Given the description of an element on the screen output the (x, y) to click on. 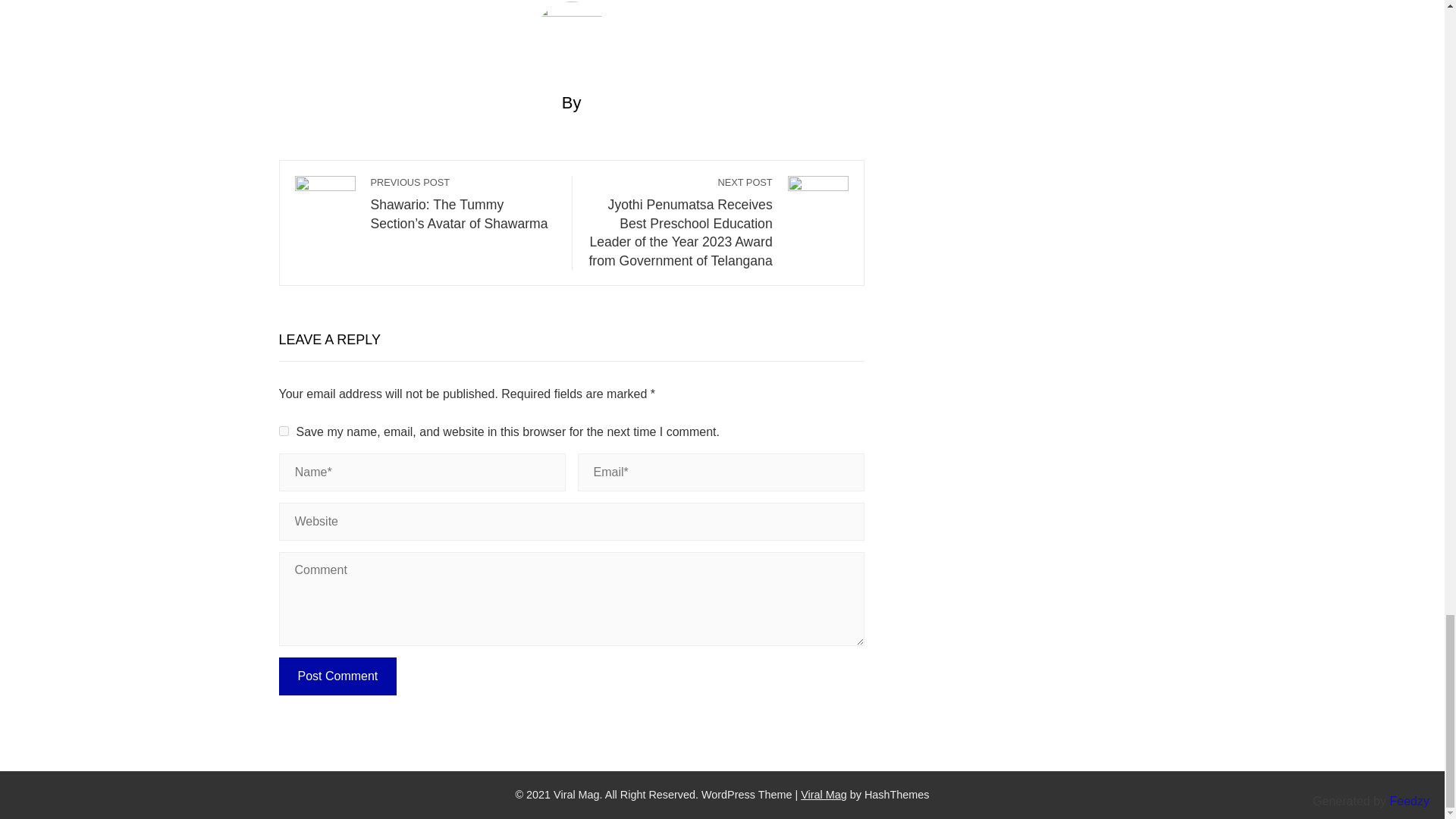
Post Comment (338, 676)
Viral Mag (823, 794)
Post Comment (338, 676)
Download Viral News (823, 794)
yes (283, 430)
